Given the description of an element on the screen output the (x, y) to click on. 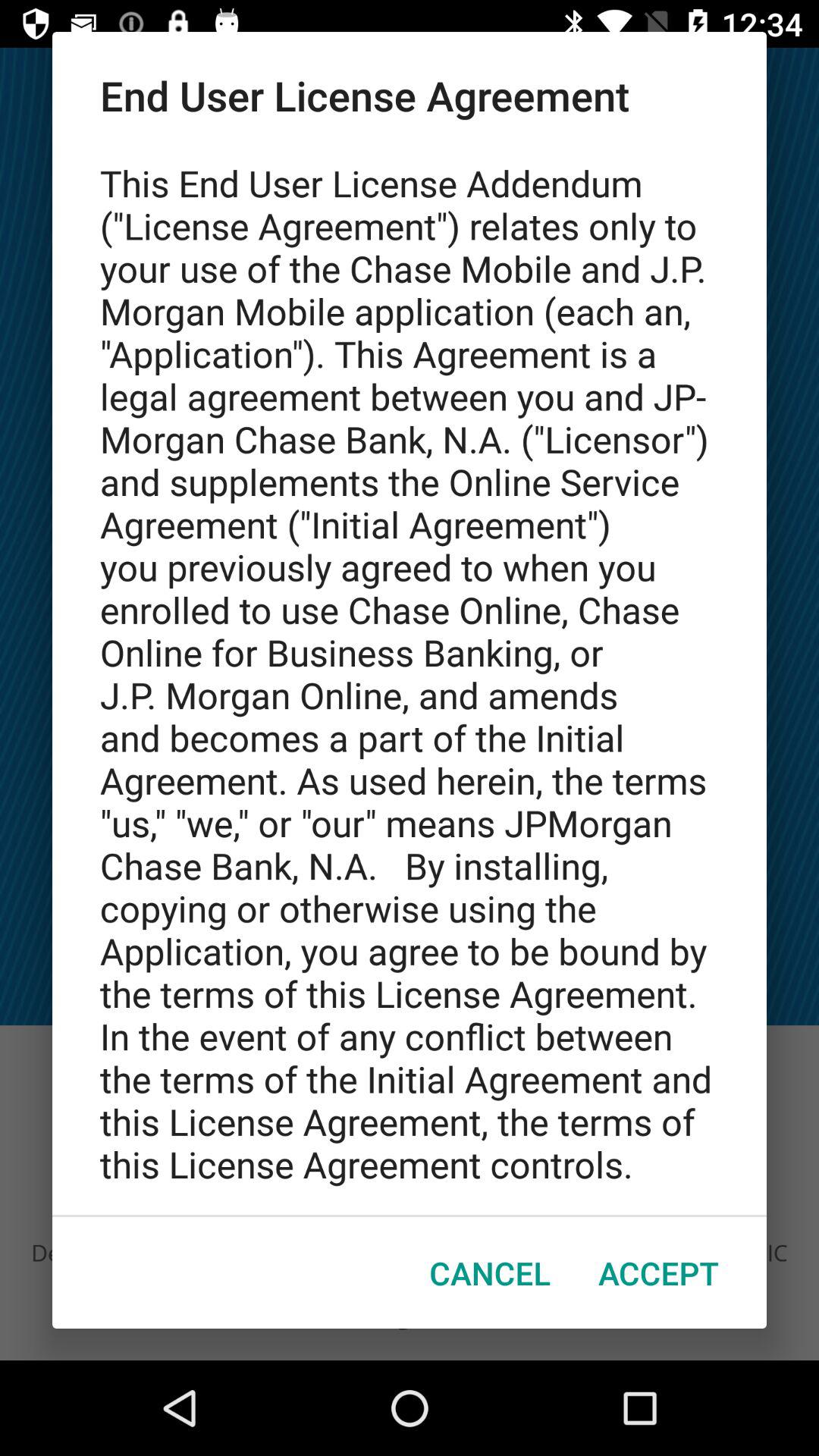
turn on the cancel item (489, 1272)
